Given the description of an element on the screen output the (x, y) to click on. 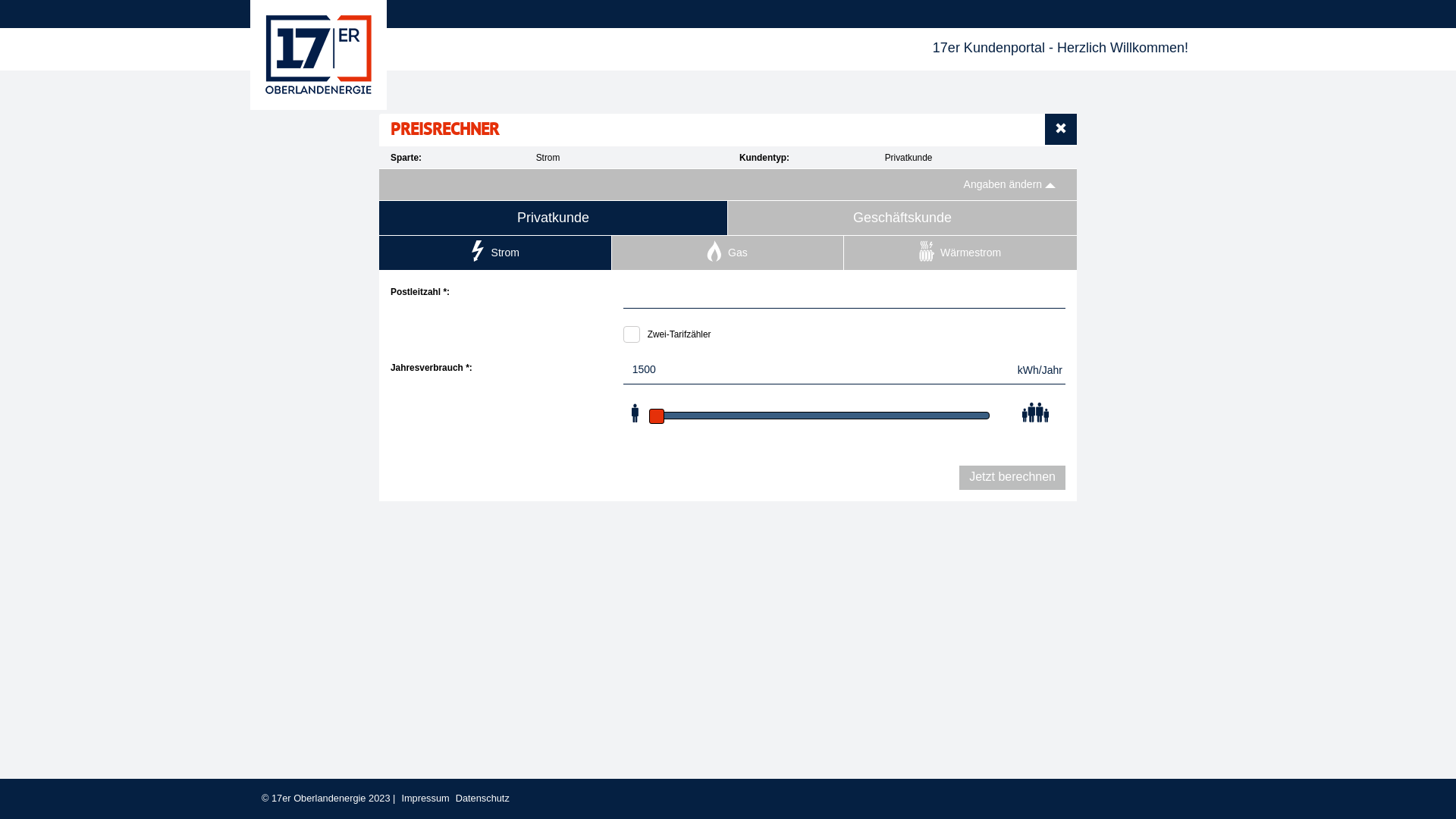
Jetzt berechnen Element type: text (1012, 477)
Datenschutz Element type: text (482, 797)
Impressum Element type: text (424, 797)
